Given the description of an element on the screen output the (x, y) to click on. 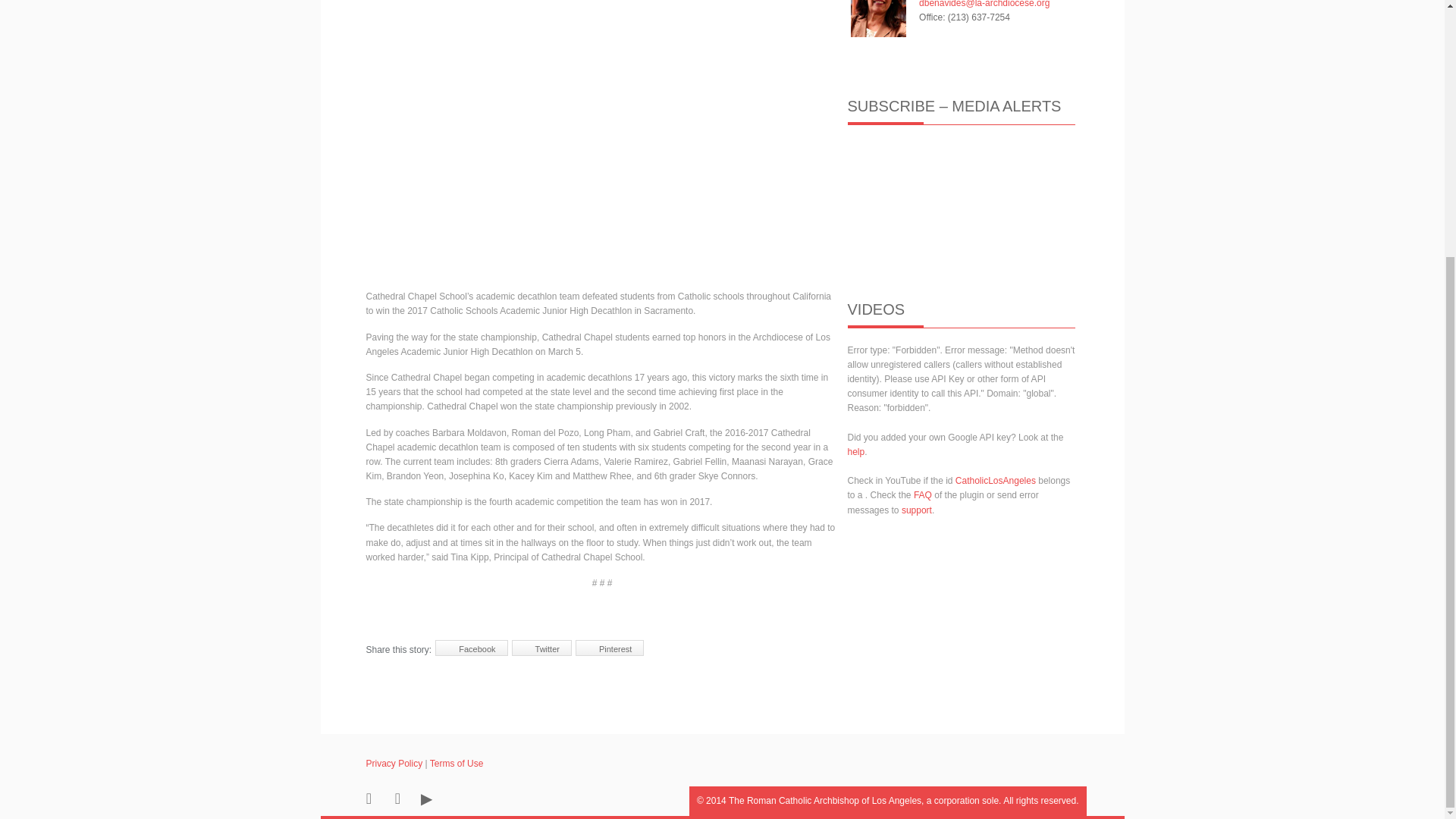
Twitter (542, 647)
Facebook (470, 647)
Twitter (542, 647)
Pinterest (609, 647)
Facebook (470, 647)
Pinterest (609, 647)
